Given the description of an element on the screen output the (x, y) to click on. 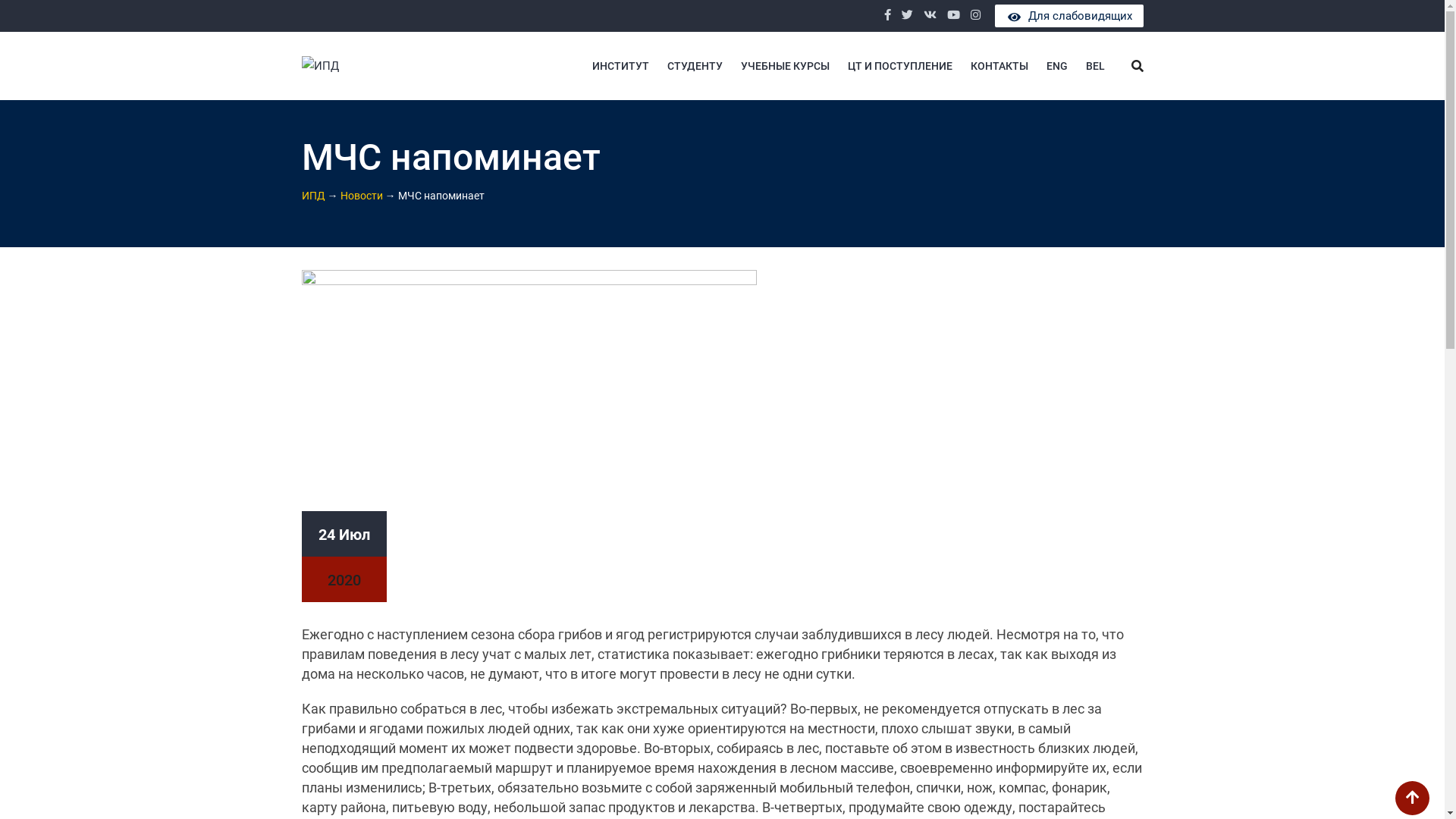
BEL Element type: text (1095, 65)
ENG Element type: text (1056, 65)
